Given the description of an element on the screen output the (x, y) to click on. 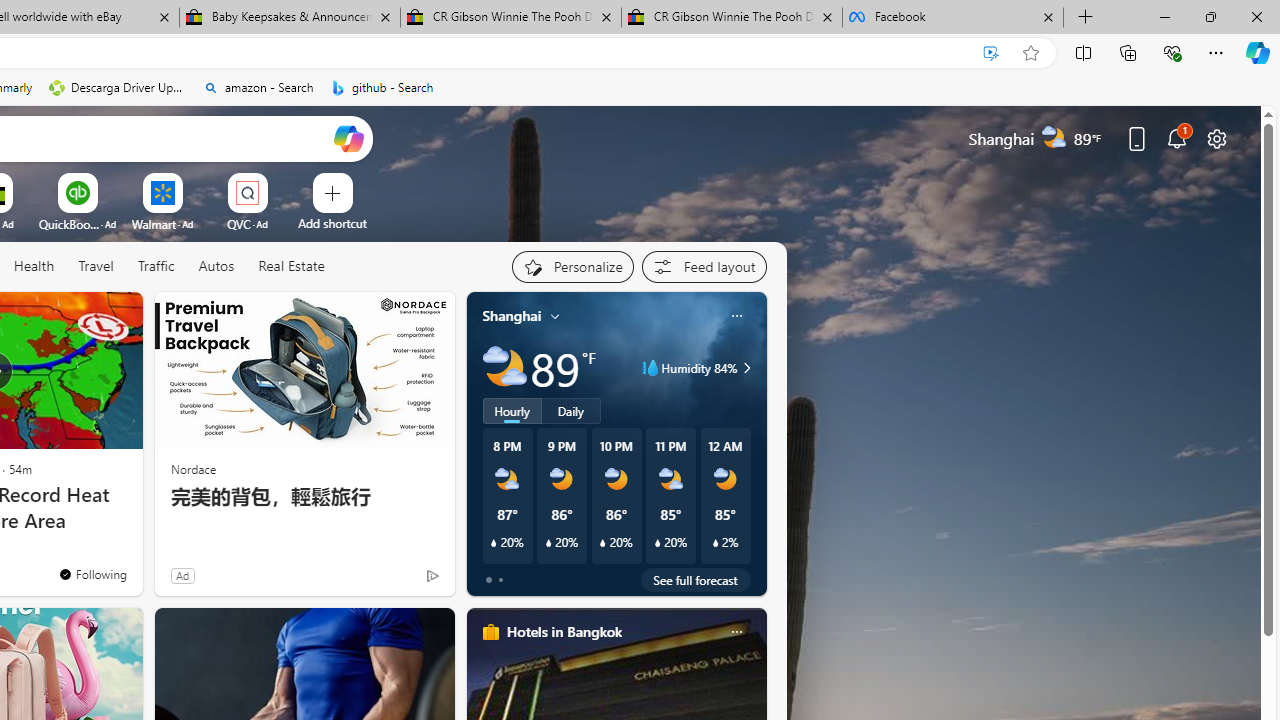
Traffic (155, 267)
Health (33, 267)
More Options (279, 179)
Add this page to favorites (Ctrl+D) (1030, 53)
amazon - Search (258, 88)
Collections (1128, 52)
Ad (182, 575)
Class: icon-img (736, 632)
Travel (95, 265)
Facebook (953, 17)
Hide this story (82, 315)
Baby Keepsakes & Announcements for sale | eBay (290, 17)
github - Search (381, 88)
